Given the description of an element on the screen output the (x, y) to click on. 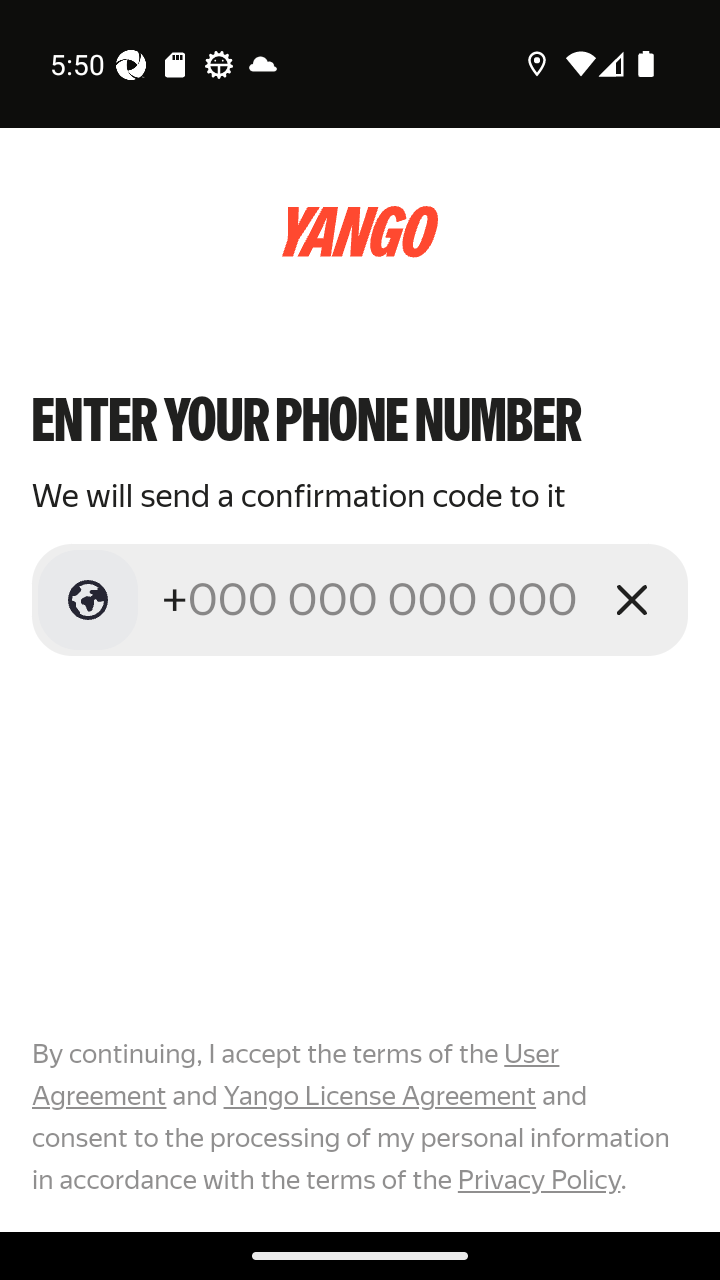
logo (359, 231)
  (88, 600)
+ (372, 599)
User Agreement (295, 1075)
Yango License Agreement (379, 1096)
Privacy Policy (538, 1179)
